Given the description of an element on the screen output the (x, y) to click on. 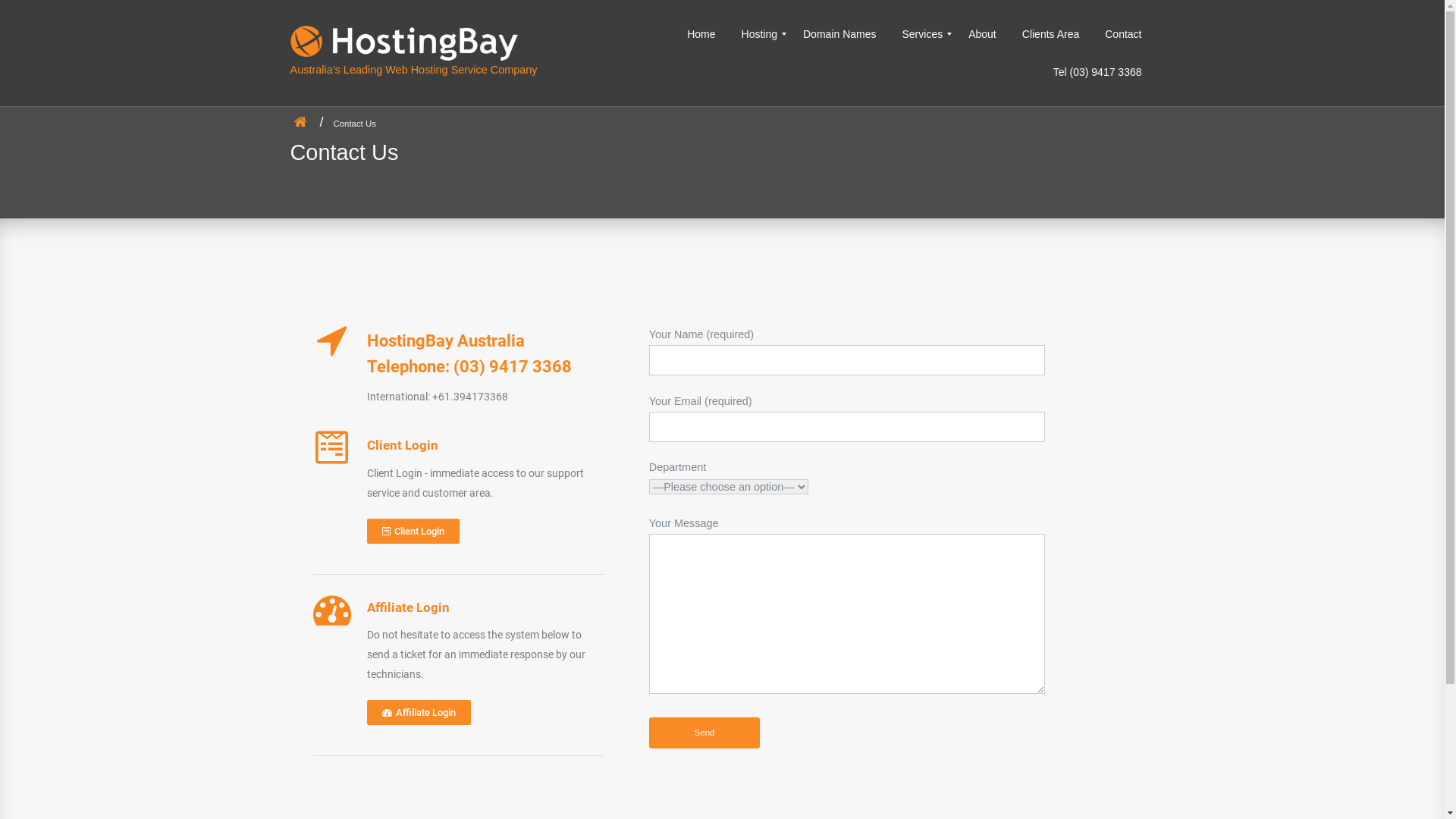
About Element type: text (982, 34)
Contact Element type: text (1123, 34)
Client Login Element type: text (413, 530)
Services Element type: text (921, 34)
Clients Area Element type: text (1050, 34)
Send Element type: text (704, 732)
Tel (03) 9417 3368 Element type: text (1097, 72)
Hosting Element type: text (759, 34)
Home Element type: text (707, 34)
Domain Names Element type: text (839, 34)
Affiliate Login Element type: text (418, 711)
HostingBay Australia

Telephone: (03) 9417 3368 Element type: text (469, 353)
